Given the description of an element on the screen output the (x, y) to click on. 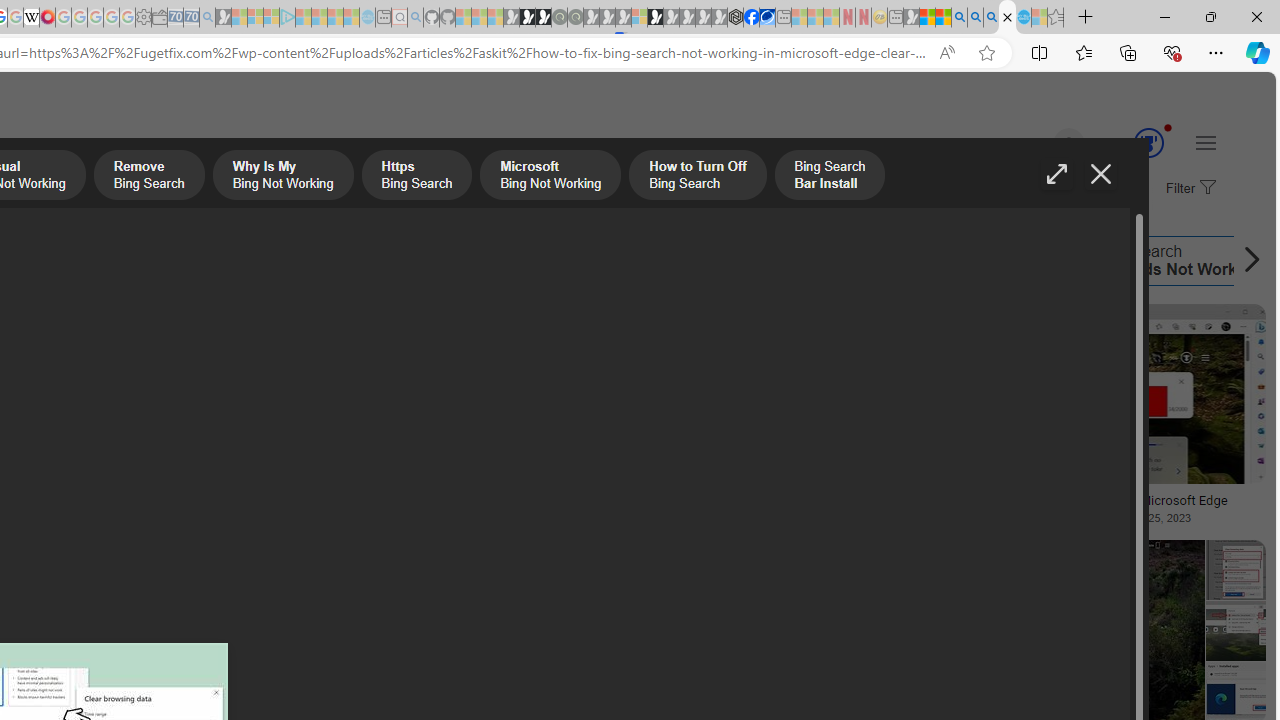
2009 Bing officially replaced Live Search on June 3 - Search (975, 17)
Wallet - Sleeping (159, 17)
Bong Plush Toy (143, 434)
Image result for Bing Search Not Working (1108, 393)
Bing Search Bar Install (527, 260)
Favorites - Sleeping (1055, 17)
Settings - Sleeping (143, 17)
Bing Bong Plush Toy (143, 434)
Bing Not Working Properly (715, 260)
Microsoft Bing Not Working (73, 260)
